Given the description of an element on the screen output the (x, y) to click on. 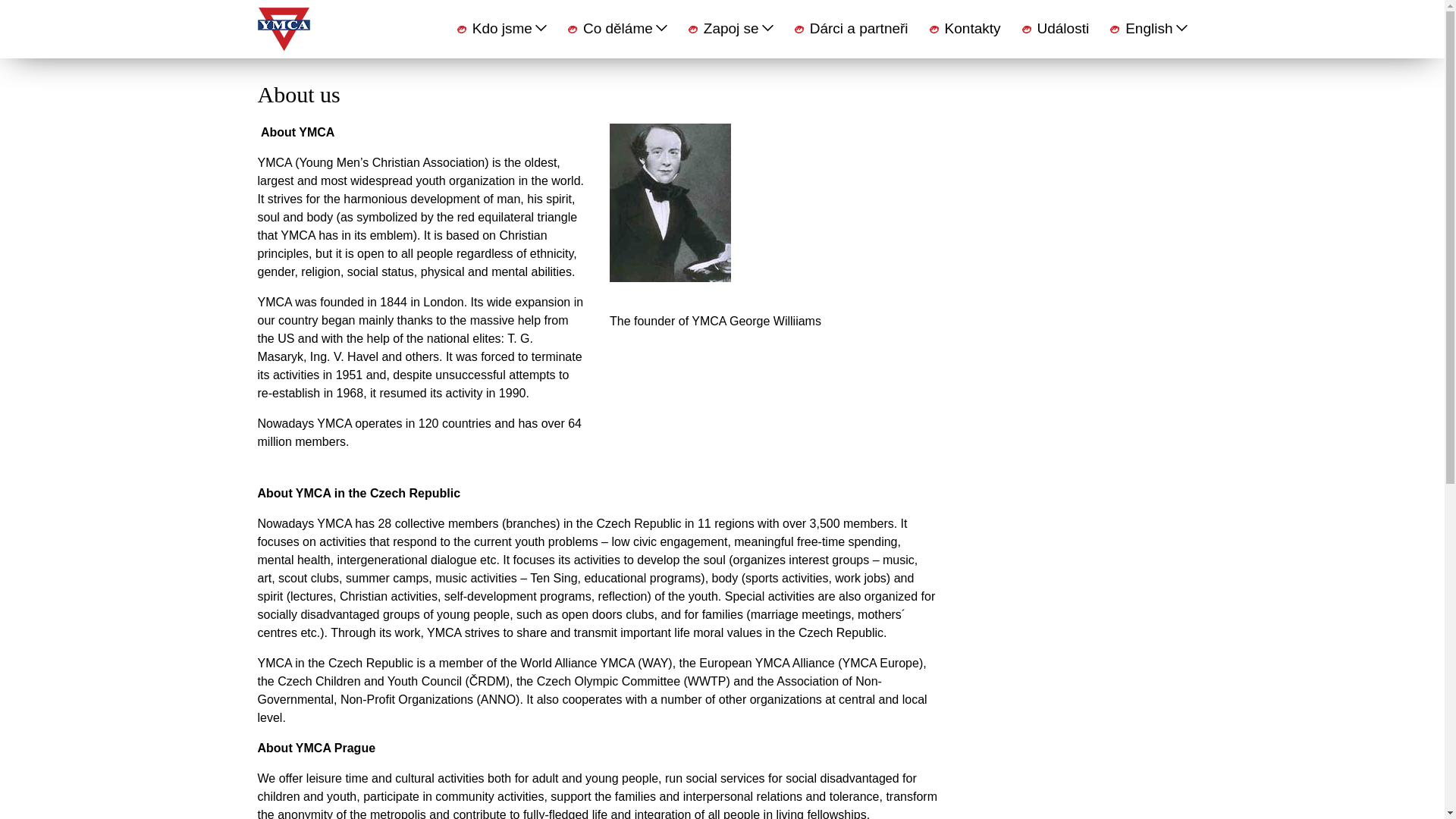
Kdo jsme (509, 27)
Zapoj se (738, 27)
YMCA Praha (283, 28)
English (1155, 27)
Kontakty (972, 27)
